Given the description of an element on the screen output the (x, y) to click on. 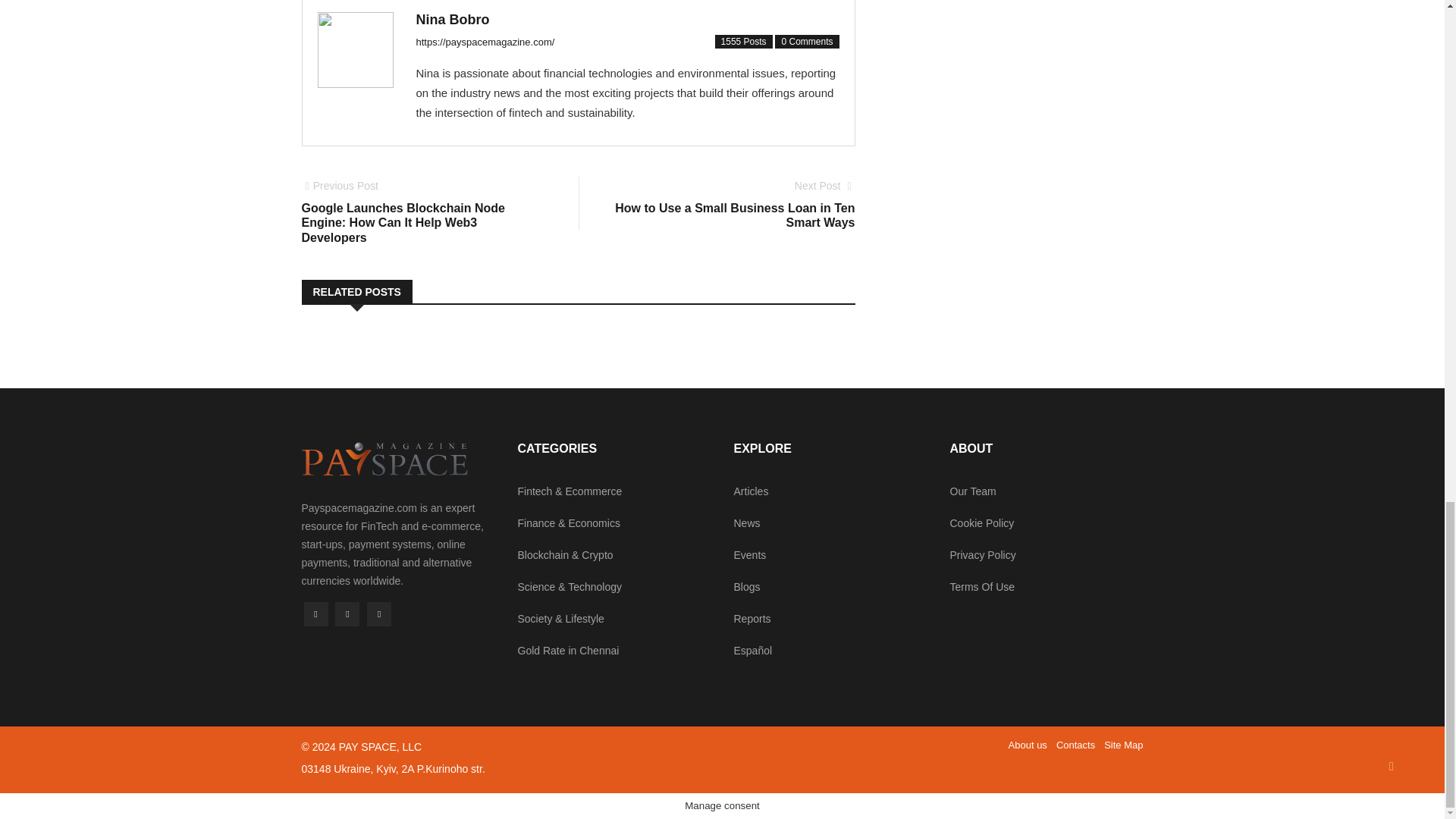
RSS (733, 204)
Facebook (378, 613)
Twitter (314, 613)
